Given the description of an element on the screen output the (x, y) to click on. 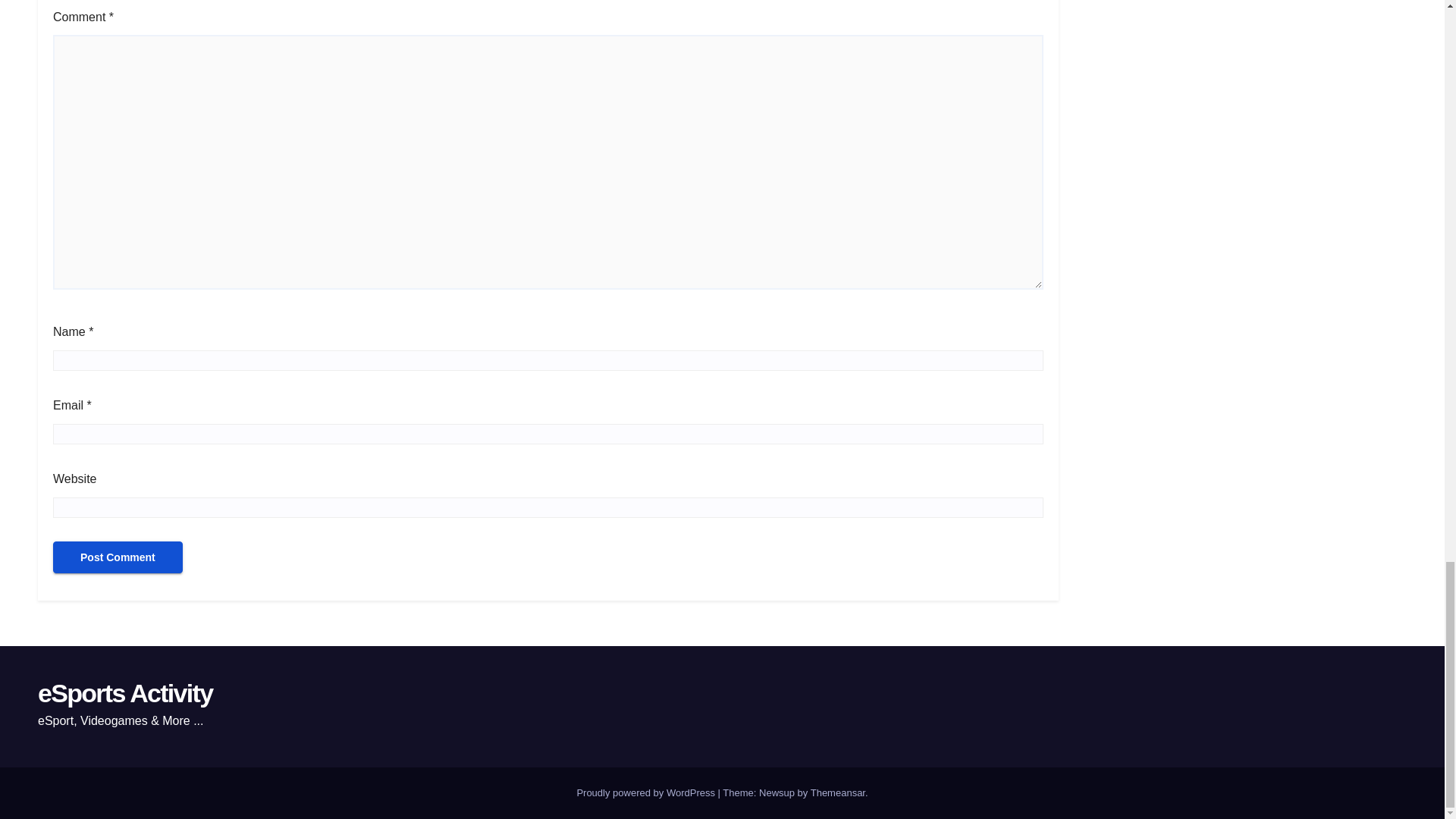
Post Comment (117, 557)
